Given the description of an element on the screen output the (x, y) to click on. 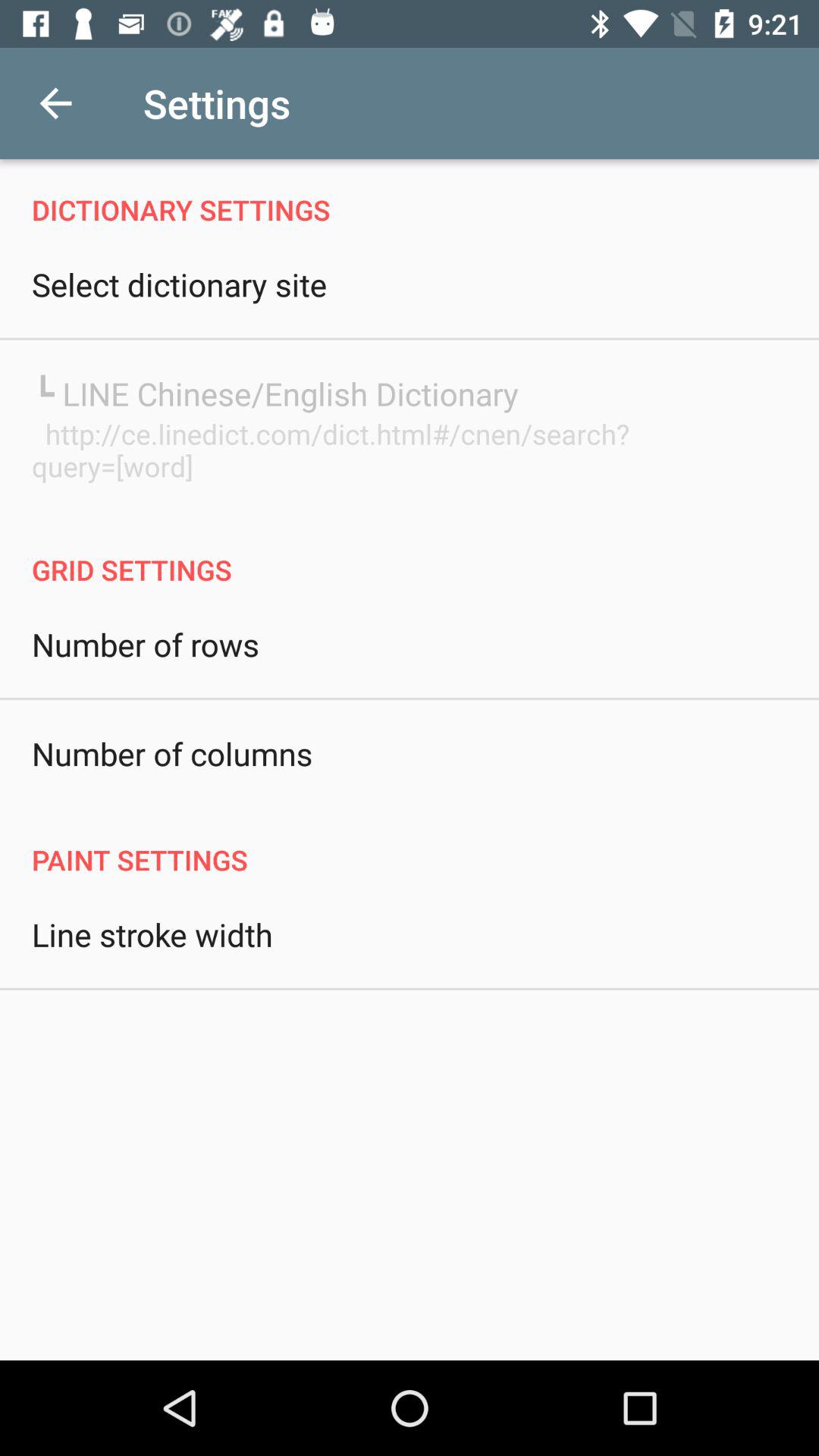
launch the icon above the number of rows icon (409, 553)
